Given the description of an element on the screen output the (x, y) to click on. 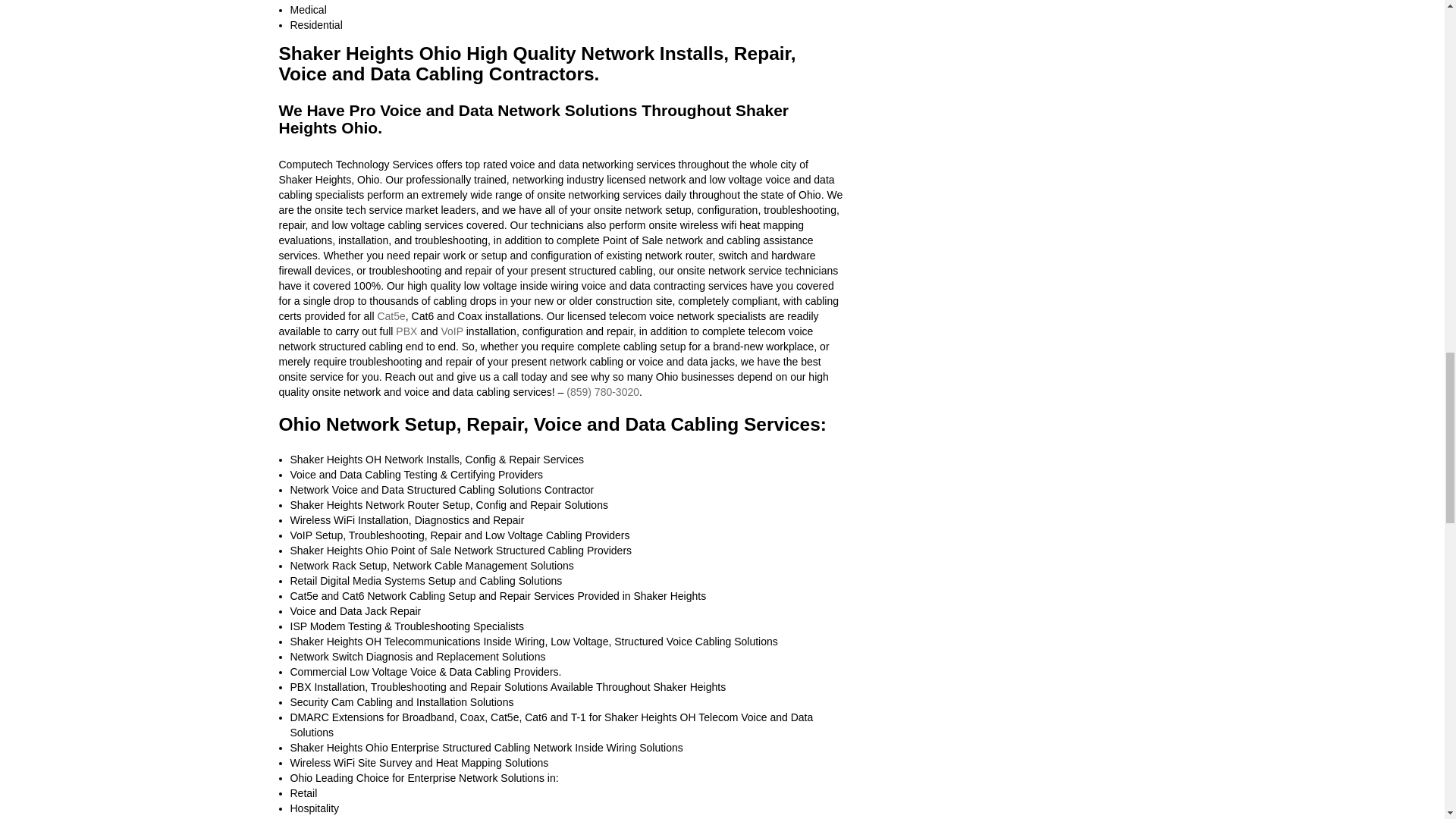
Cat5e (390, 316)
PBX (406, 331)
